Given the description of an element on the screen output the (x, y) to click on. 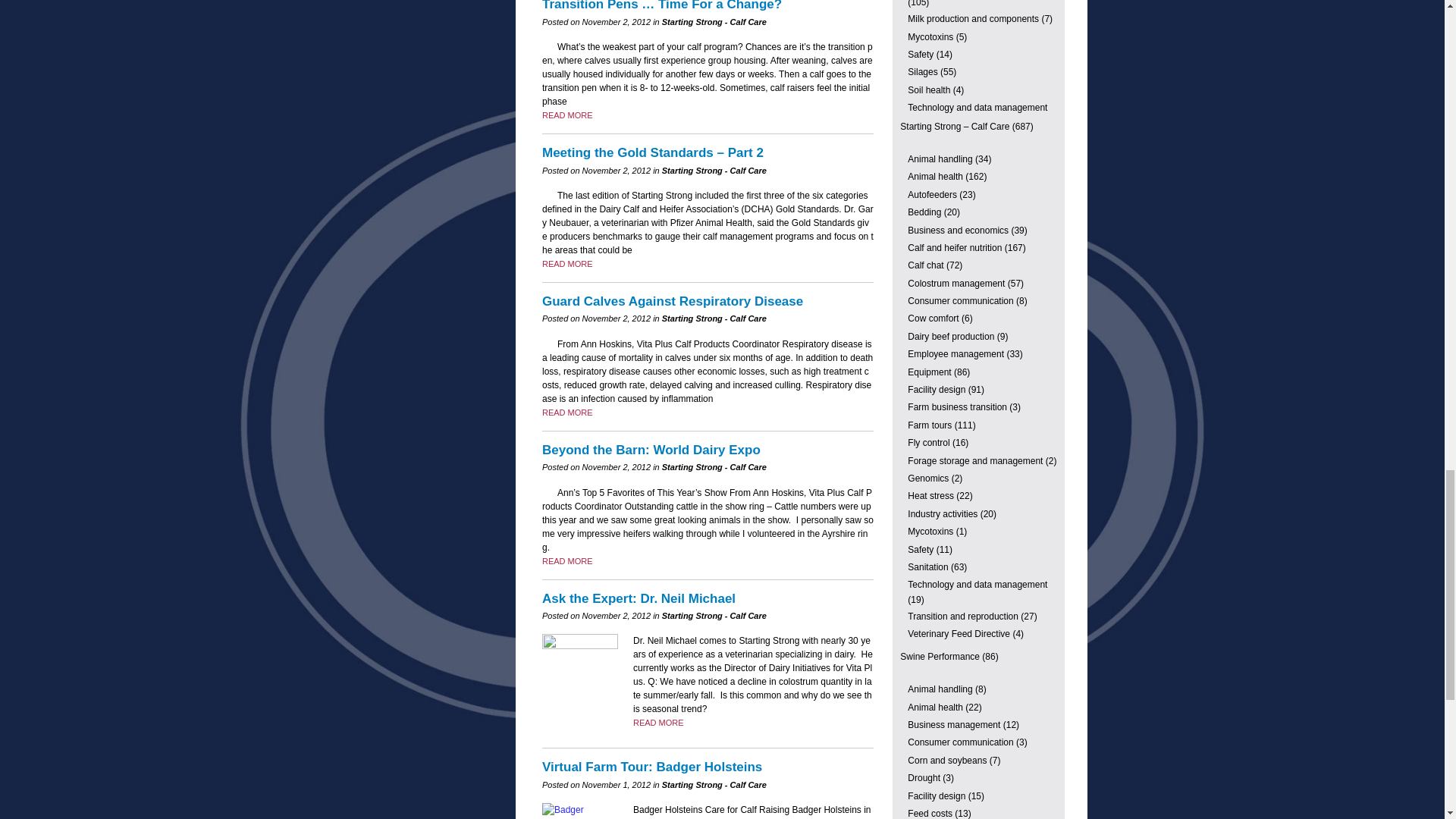
Winter calf barn ventilation (566, 560)
Winter calf barn ventilation (566, 411)
Winter calf barn ventilation (658, 722)
Winter calf barn ventilation (566, 263)
Winter calf barn ventilation (566, 114)
